Given the description of an element on the screen output the (x, y) to click on. 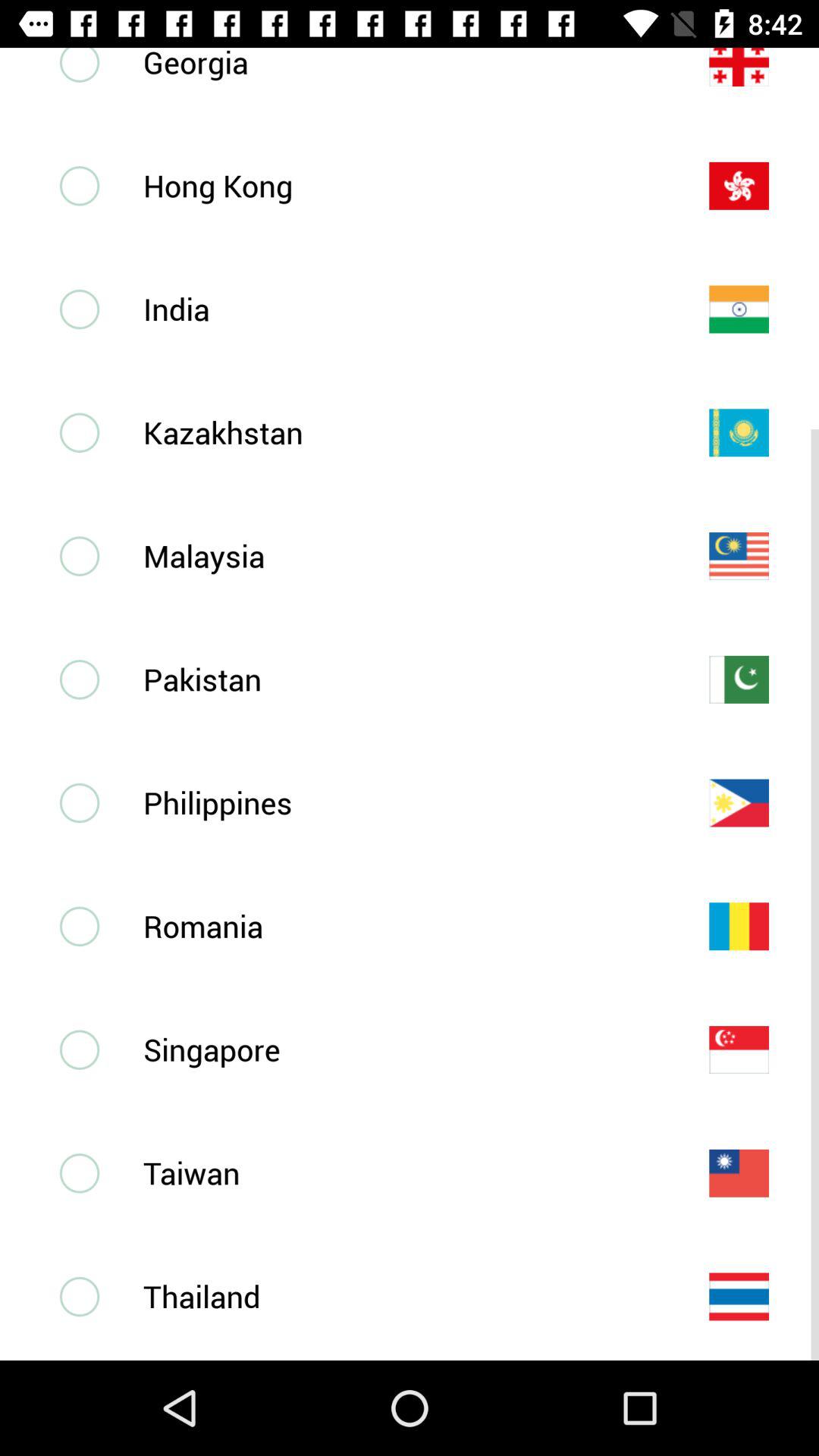
swipe until romania (401, 926)
